Given the description of an element on the screen output the (x, y) to click on. 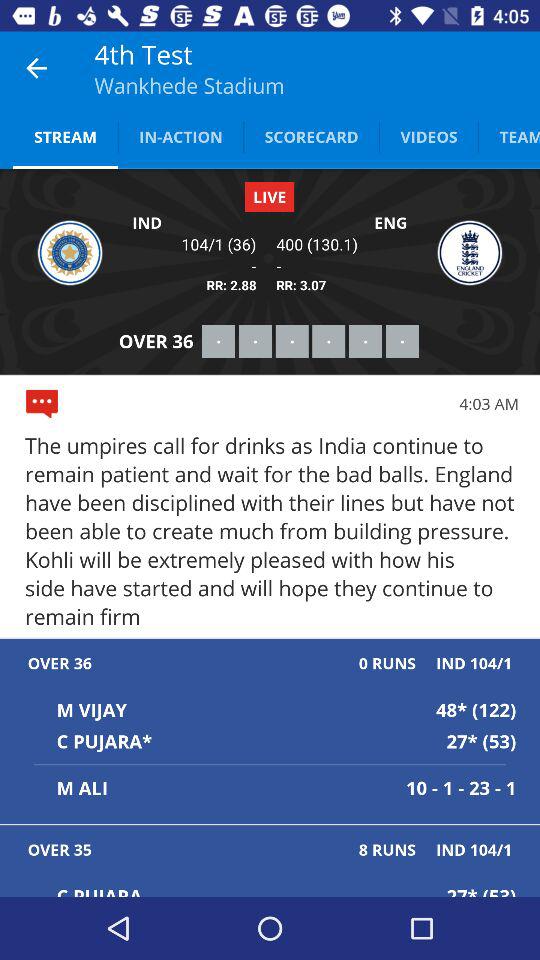
press the item next to the videos (311, 136)
